Given the description of an element on the screen output the (x, y) to click on. 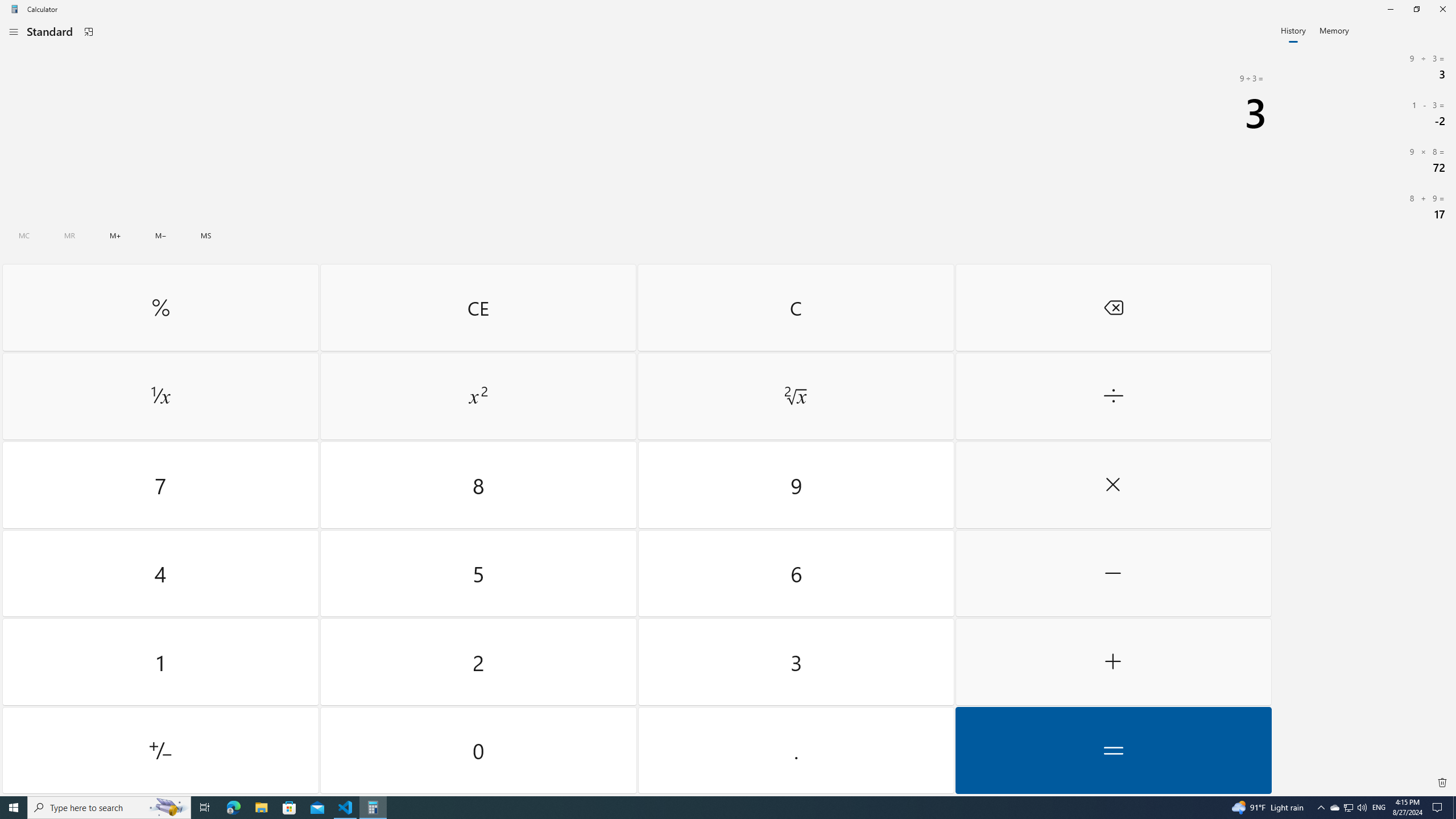
Equals (1113, 749)
Calculator - 1 running window (373, 807)
